Given the description of an element on the screen output the (x, y) to click on. 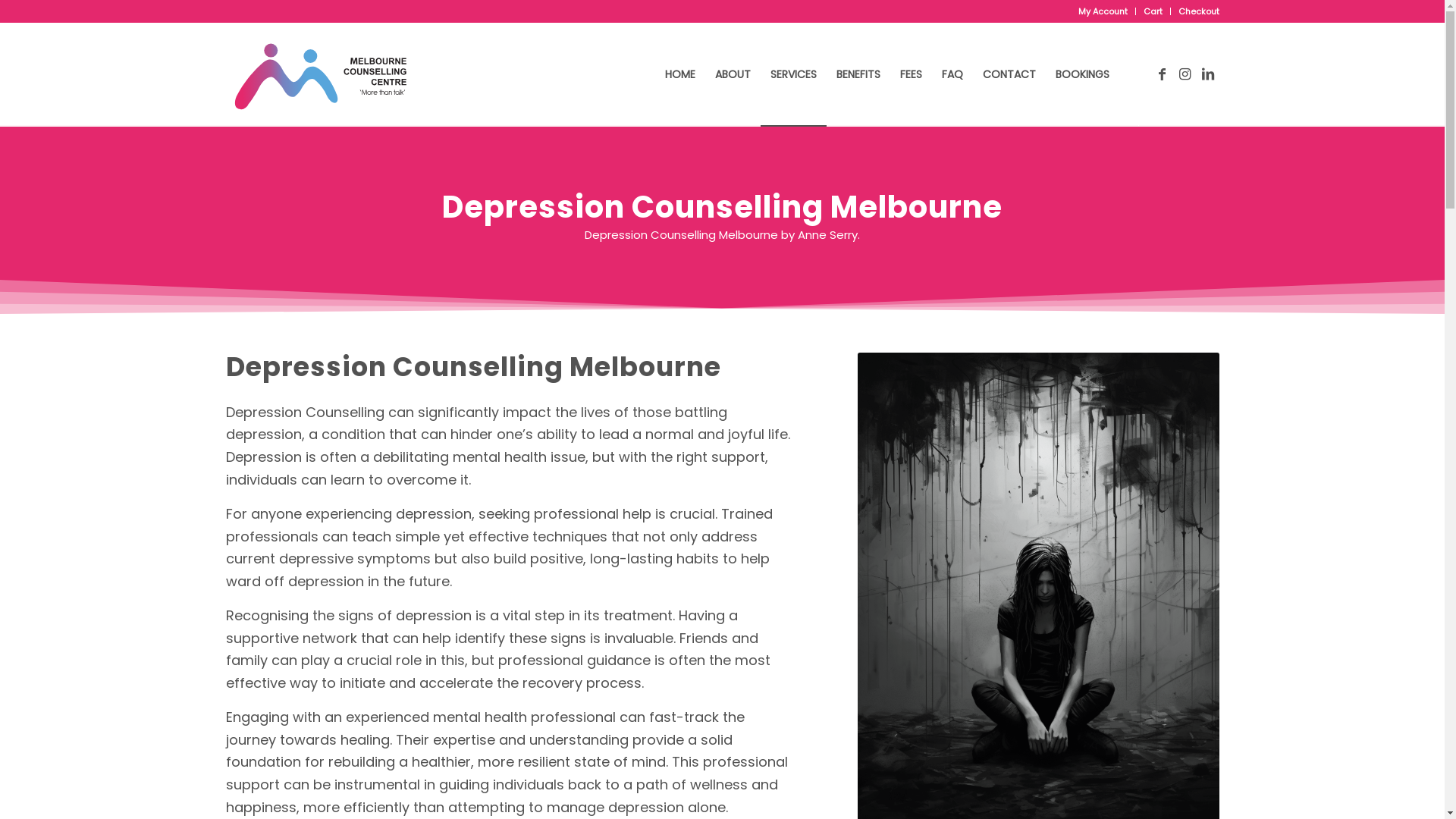
FEES Element type: text (910, 74)
Facebook Element type: hover (1162, 73)
BENEFITS Element type: text (858, 74)
My Account Element type: text (1102, 11)
melbourne-counselling-centre Element type: hover (320, 74)
FAQ Element type: text (951, 74)
HOME Element type: text (680, 74)
BOOKINGS Element type: text (1081, 74)
melbourne-counselling-centre Element type: hover (320, 74)
CONTACT Element type: text (1008, 74)
Checkout Element type: text (1198, 11)
SERVICES Element type: text (792, 74)
Cart Element type: text (1152, 11)
LinkedIn Element type: hover (1207, 73)
ABOUT Element type: text (732, 74)
Instagram Element type: hover (1184, 73)
